Given the description of an element on the screen output the (x, y) to click on. 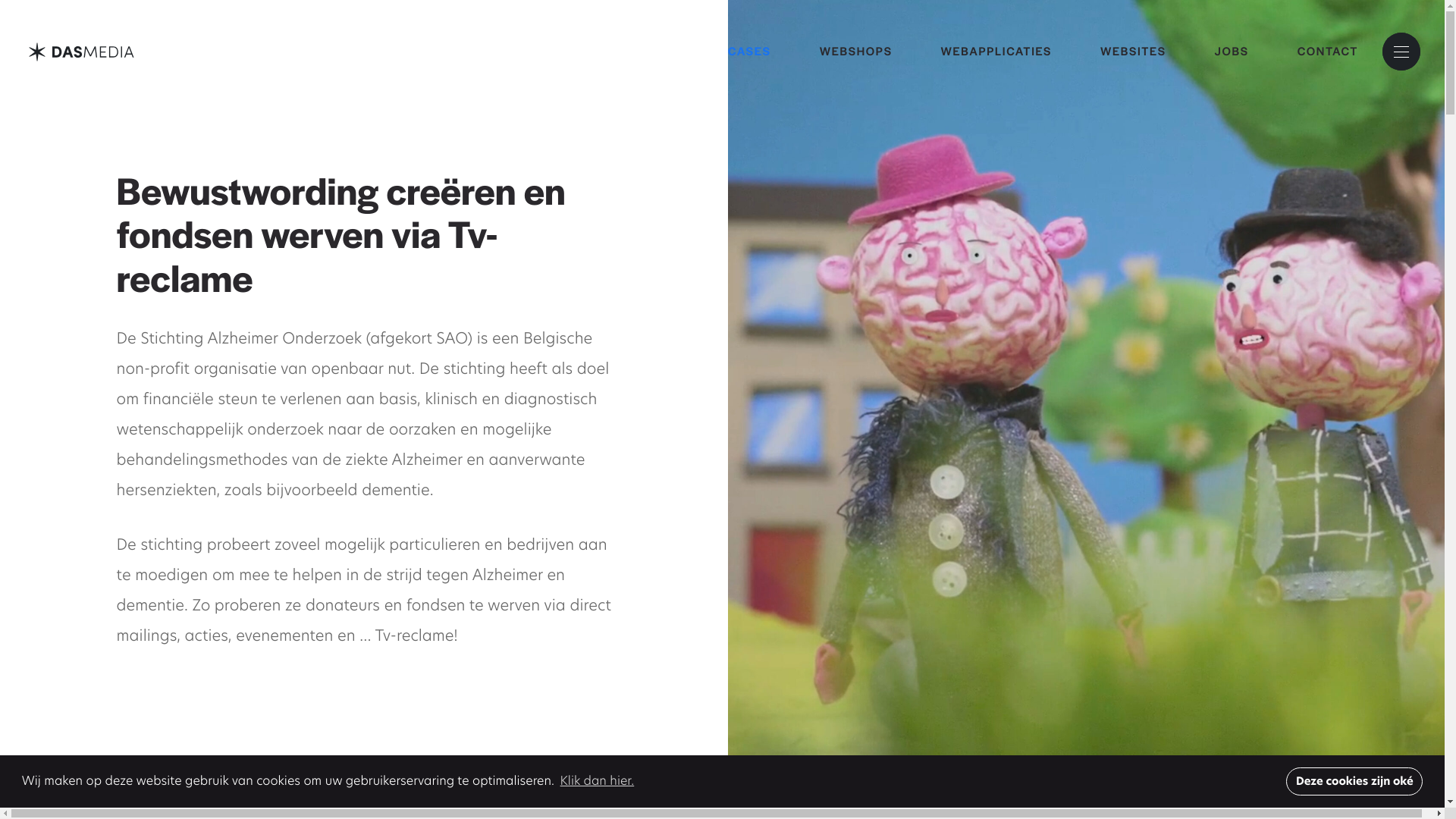
CONTACT Element type: text (1315, 51)
Klik dan hier. Element type: text (596, 780)
JOBS Element type: text (1231, 51)
WEBSHOPS Element type: text (855, 51)
WEBAPPLICATIES Element type: text (996, 51)
CASES Element type: text (761, 51)
WEBSITES Element type: text (1133, 51)
nl Element type: hover (81, 51)
